Given the description of an element on the screen output the (x, y) to click on. 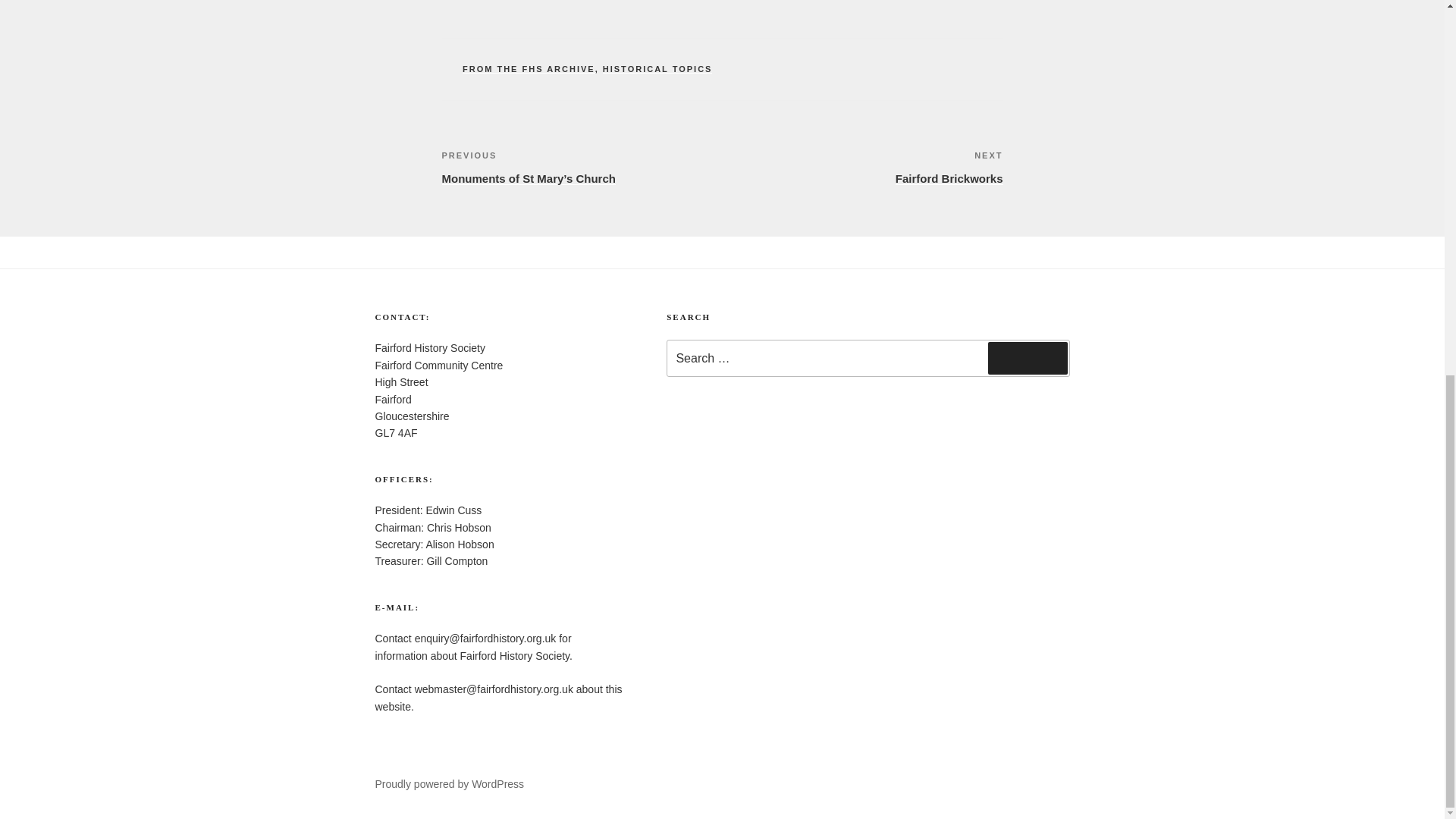
Search (862, 167)
FROM THE FHS ARCHIVE (1027, 357)
HISTORICAL TOPICS (529, 68)
Proudly powered by WordPress (657, 68)
